Given the description of an element on the screen output the (x, y) to click on. 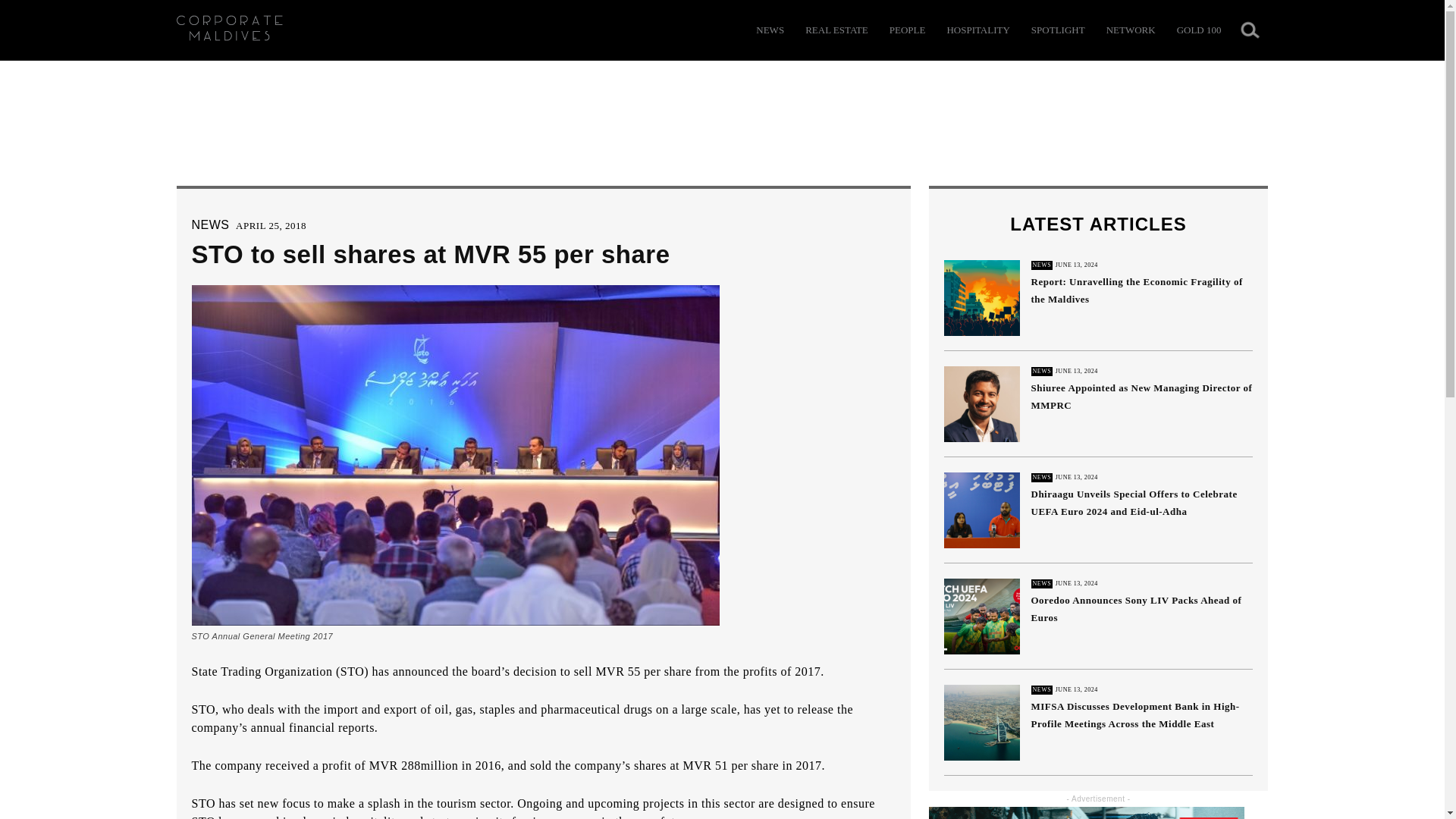
HOSPITALITY (977, 30)
PEOPLE (907, 30)
NETWORK (1131, 30)
REAL ESTATE (836, 30)
NEWS (769, 30)
NEWS (209, 224)
GOLD 100 (1198, 30)
SPOTLIGHT (1057, 30)
